Given the description of an element on the screen output the (x, y) to click on. 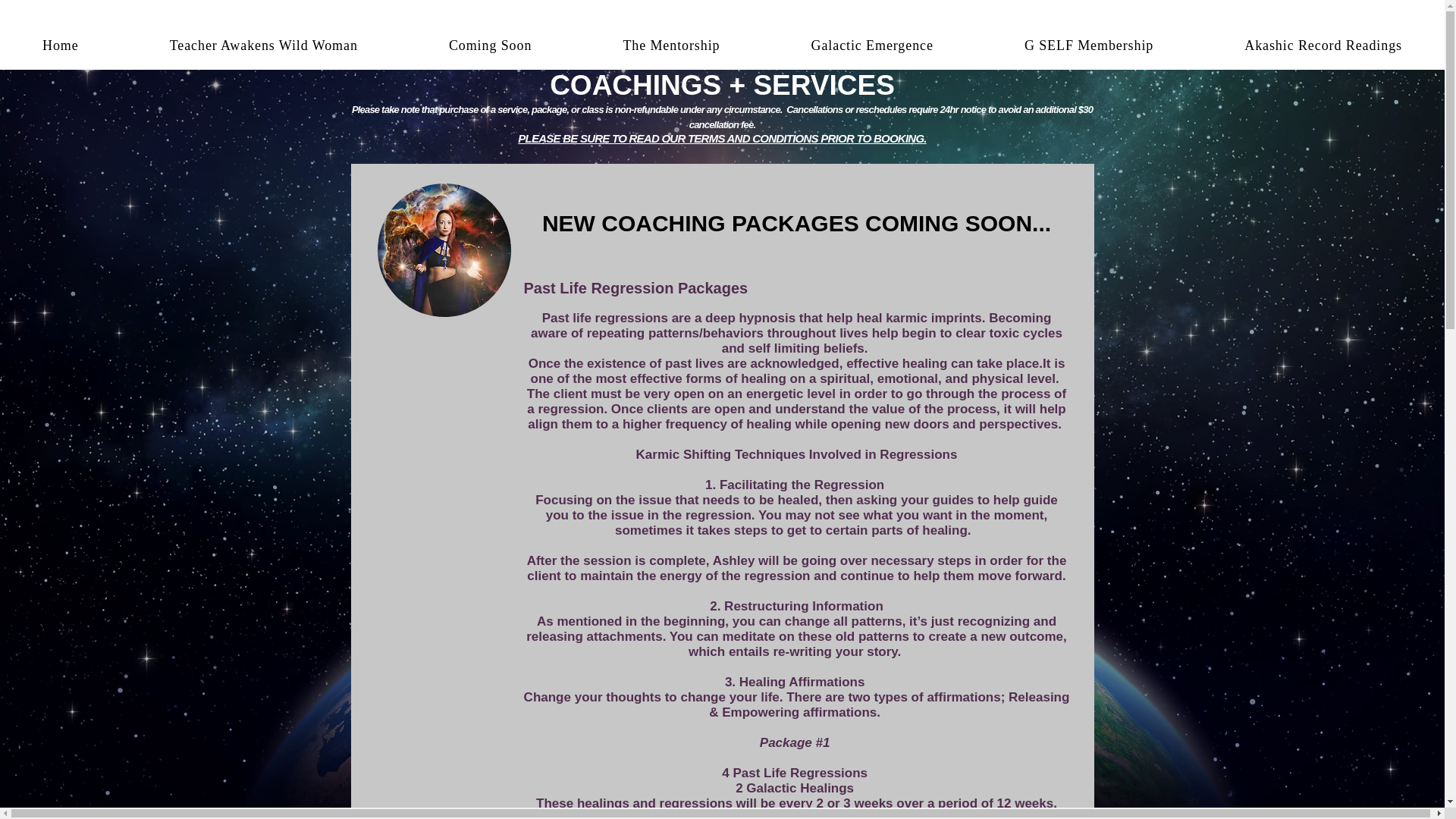
Home (60, 45)
Coming Soon (490, 45)
The Mentorship (670, 45)
Akashic Record Readings (1323, 45)
Teacher Awakens Wild Woman (264, 45)
G SELF Membership (1088, 45)
Galactic Emergence (871, 45)
